Given the description of an element on the screen output the (x, y) to click on. 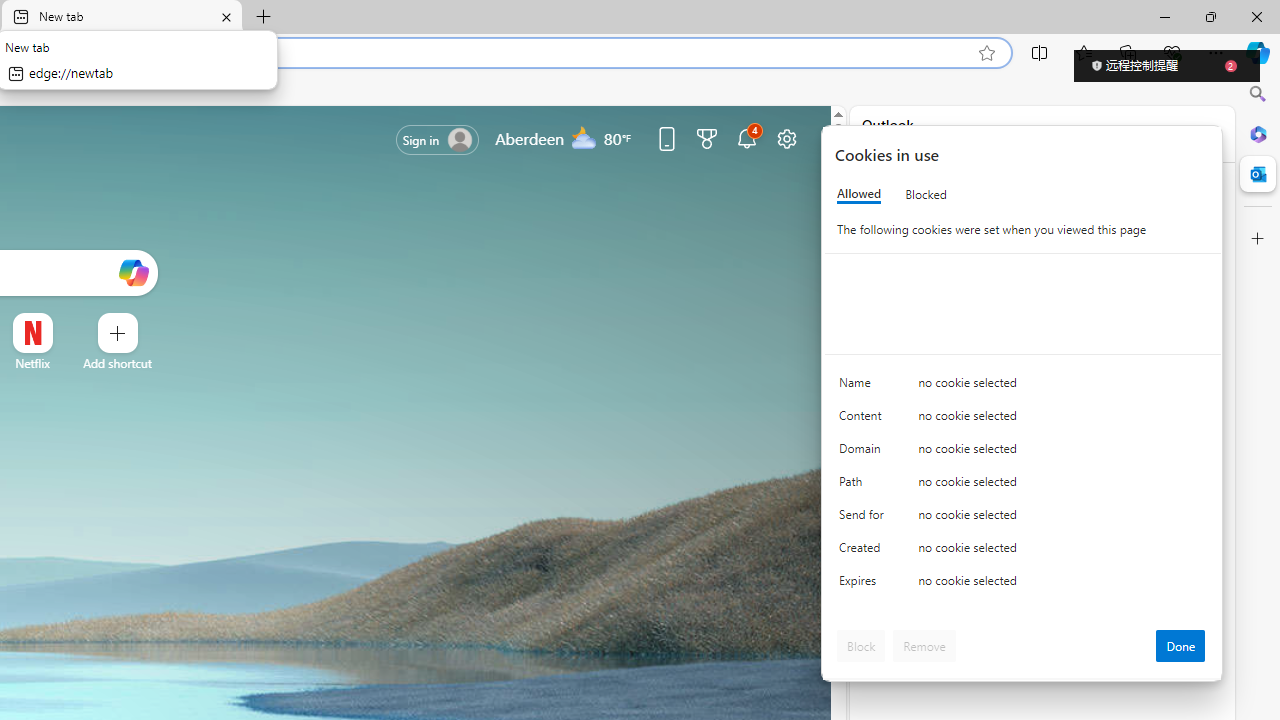
Microsoft rewards (707, 138)
Add a site (117, 363)
Name (864, 387)
Remove (924, 645)
